Given the description of an element on the screen output the (x, y) to click on. 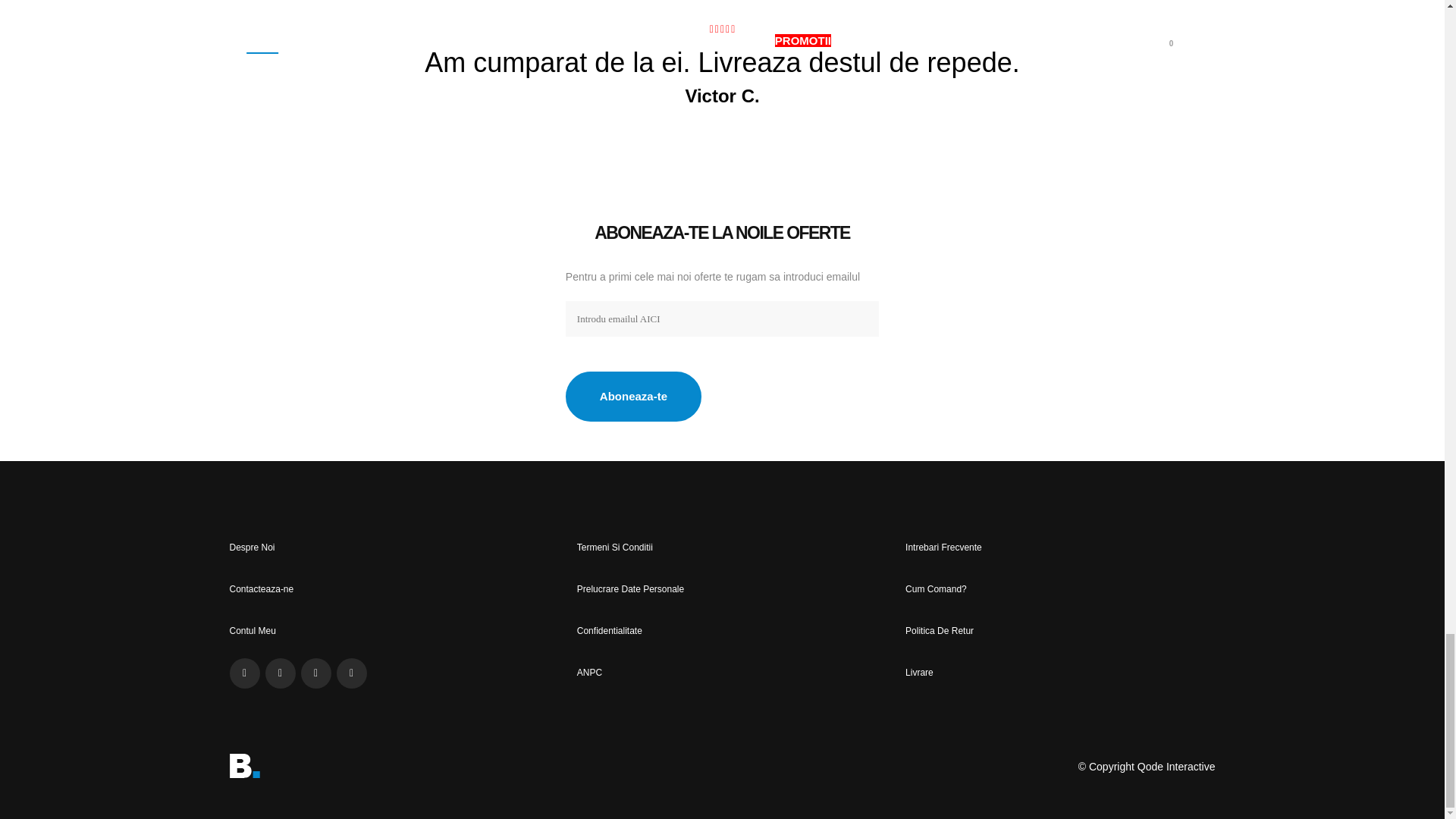
Aboneaza-te (633, 396)
